Given the description of an element on the screen output the (x, y) to click on. 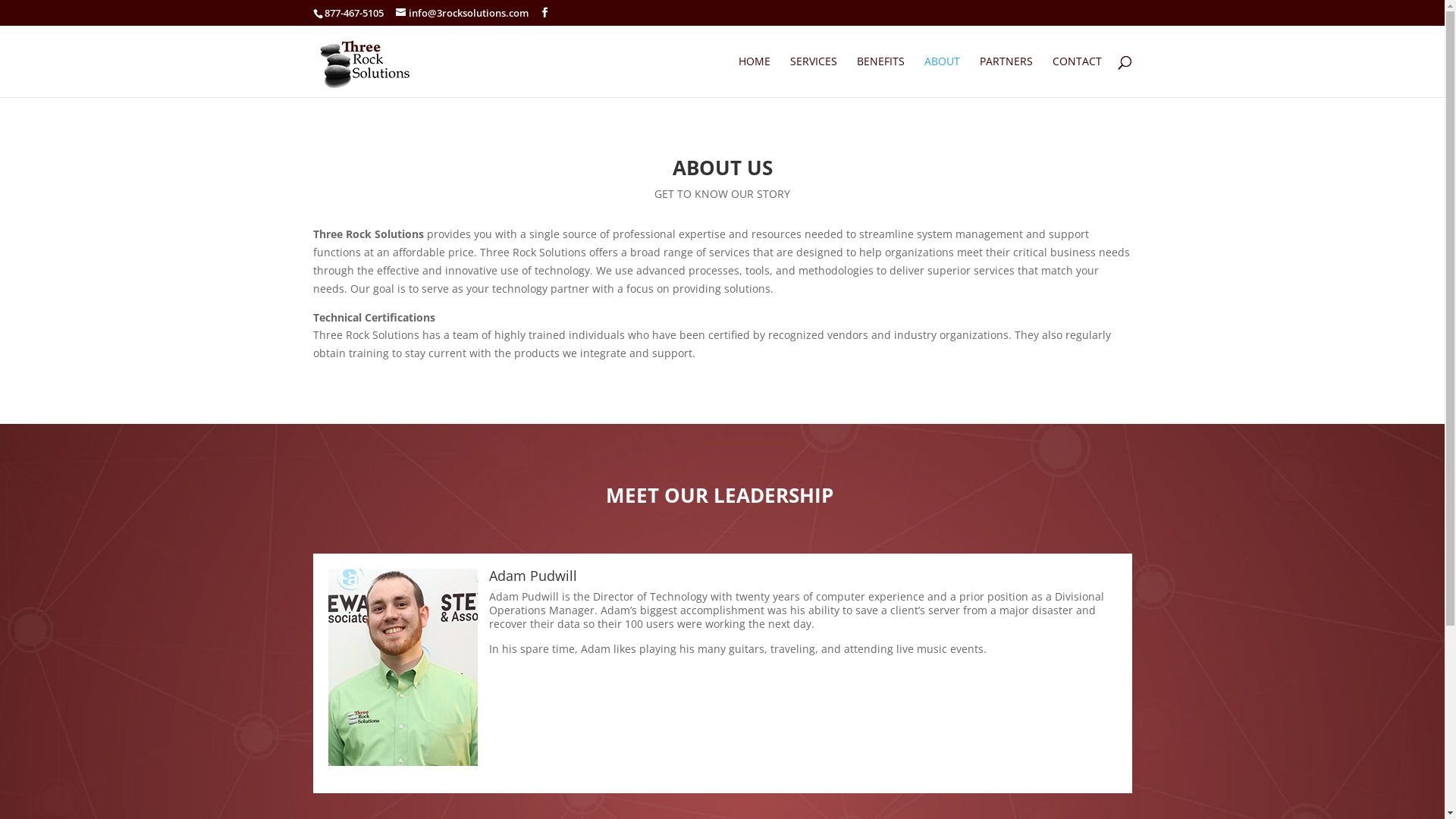
BENEFITS Element type: text (880, 76)
info@3rocksolutions.com Element type: text (461, 12)
ABOUT Element type: text (941, 76)
SERVICES Element type: text (813, 76)
PARTNERS Element type: text (1005, 76)
HOME Element type: text (754, 76)
CONTACT Element type: text (1076, 76)
